Given the description of an element on the screen output the (x, y) to click on. 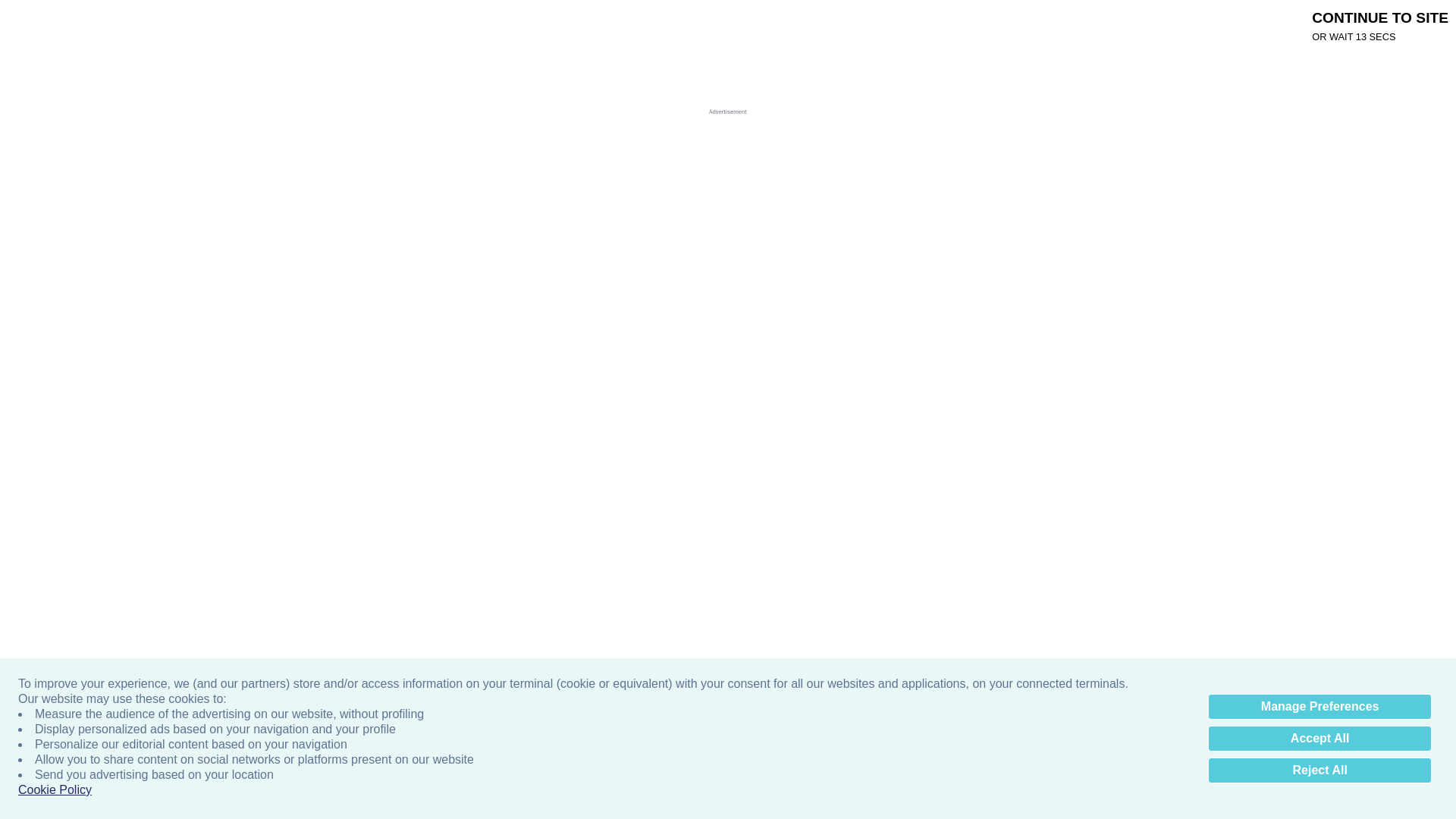
Cookie Policy (54, 789)
Reject All (1319, 769)
3rd party ad content (715, 98)
Accept All (1319, 738)
Broader Implications for the Drug Discovery Field (513, 800)
Manage Preferences (1319, 706)
Brand Insights (740, 23)
Subscribe (881, 23)
